Given the description of an element on the screen output the (x, y) to click on. 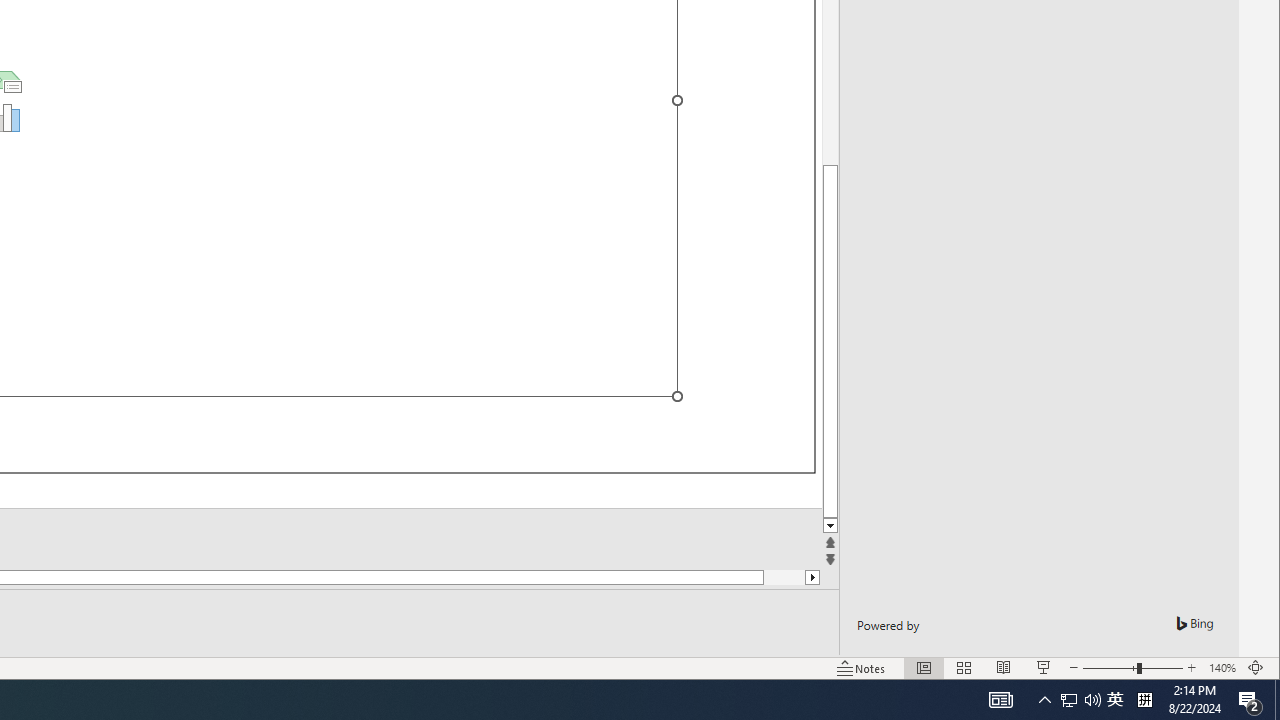
Zoom 140% (1222, 668)
AutomationID: 4105 (1000, 699)
Tray Input Indicator - Chinese (Simplified, China) (1144, 699)
Q2790: 100% (1092, 699)
Notification Chevron (1044, 699)
Action Center, 2 new notifications (1069, 699)
